Given the description of an element on the screen output the (x, y) to click on. 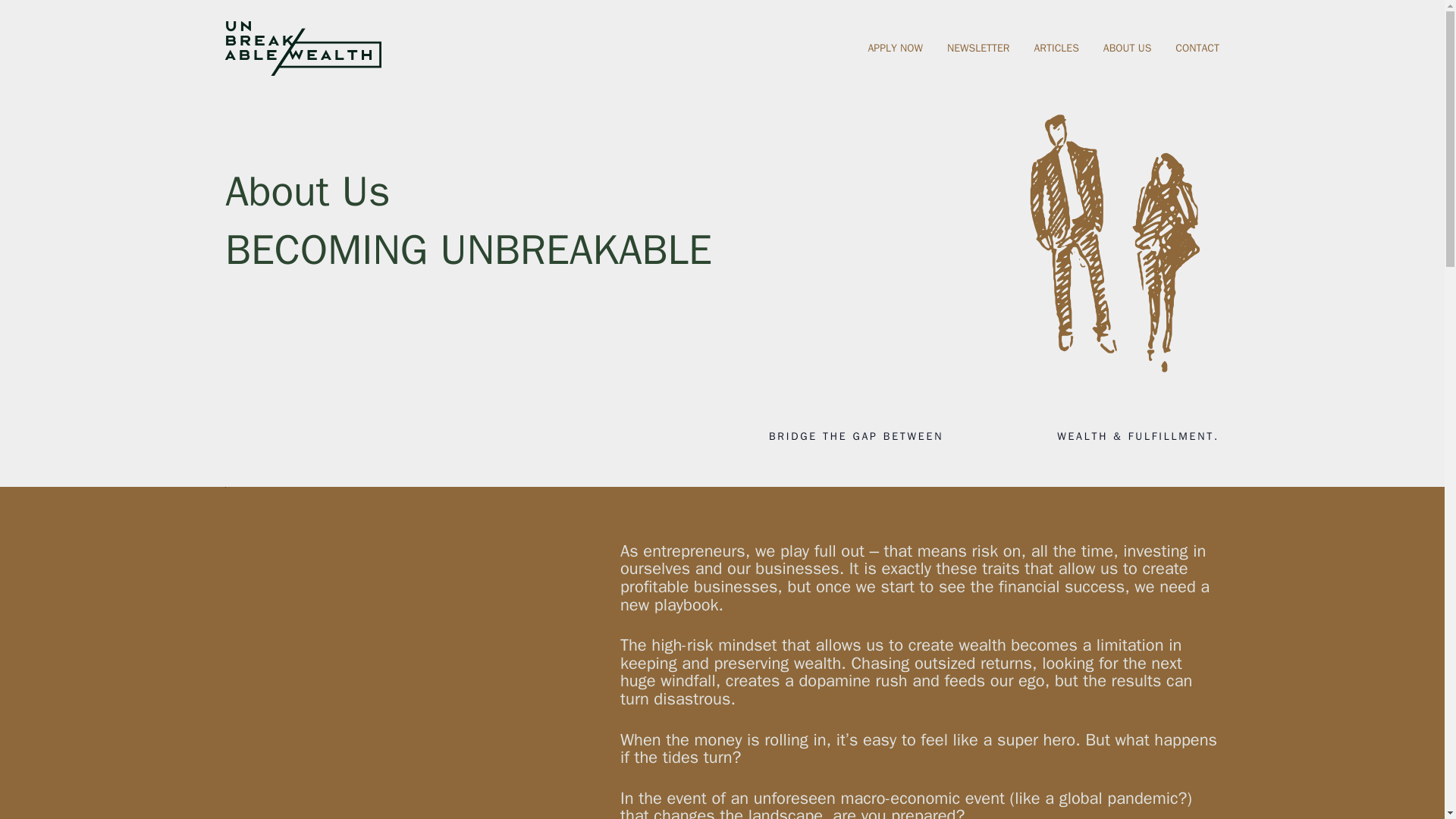
CONTACT (1197, 48)
APPLY NOW (895, 48)
ARTICLES (1055, 48)
ABOUT US (1127, 48)
NEWSLETTER (978, 48)
